Given the description of an element on the screen output the (x, y) to click on. 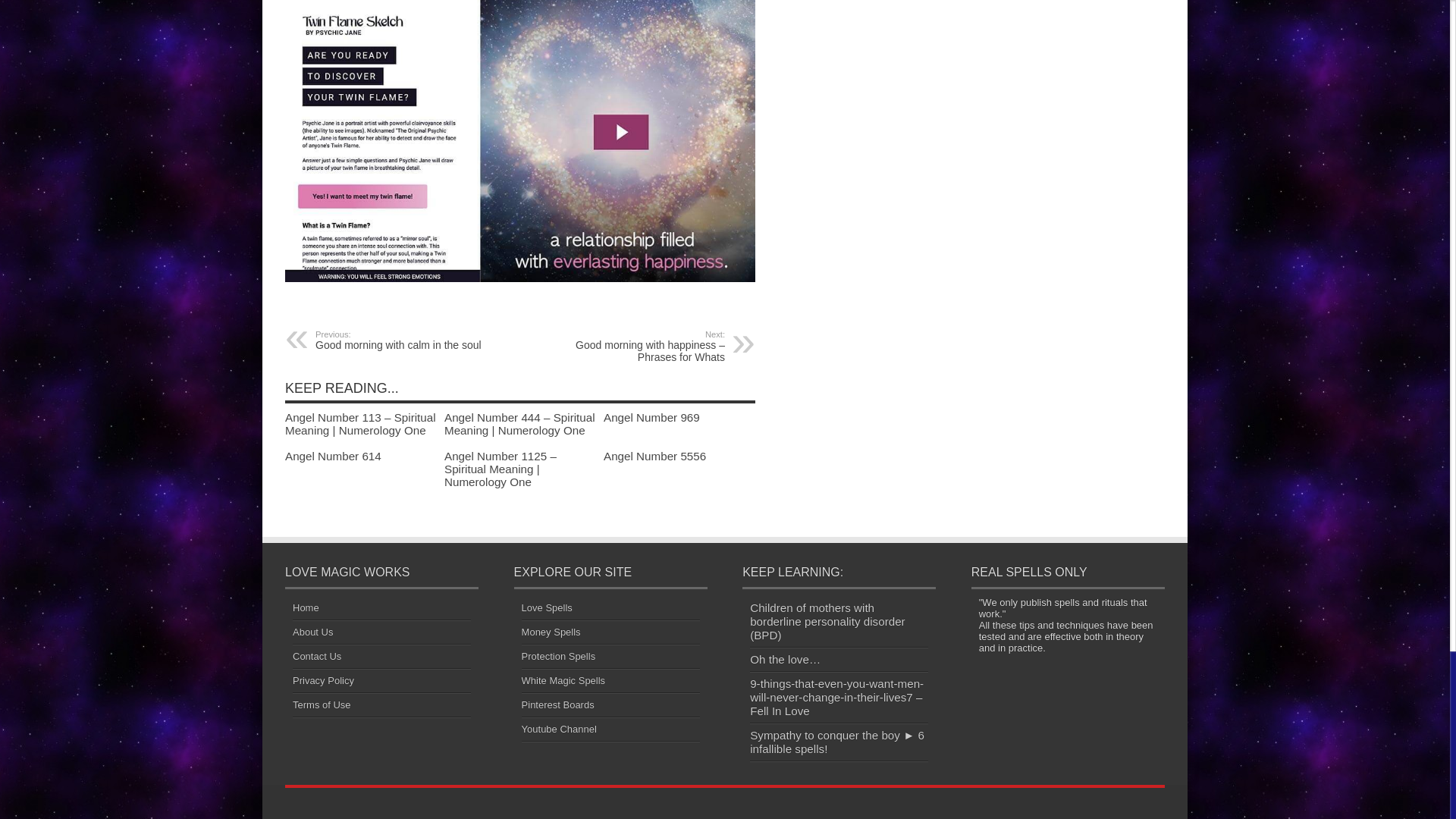
Angel Number 614 (333, 455)
Permalink to Angel Number 969 (407, 340)
Angel Number 969 (652, 417)
Angel Number 5556 (652, 417)
Permalink to Angel Number 614 (655, 455)
Permalink to Angel Number 5556 (333, 455)
